Given the description of an element on the screen output the (x, y) to click on. 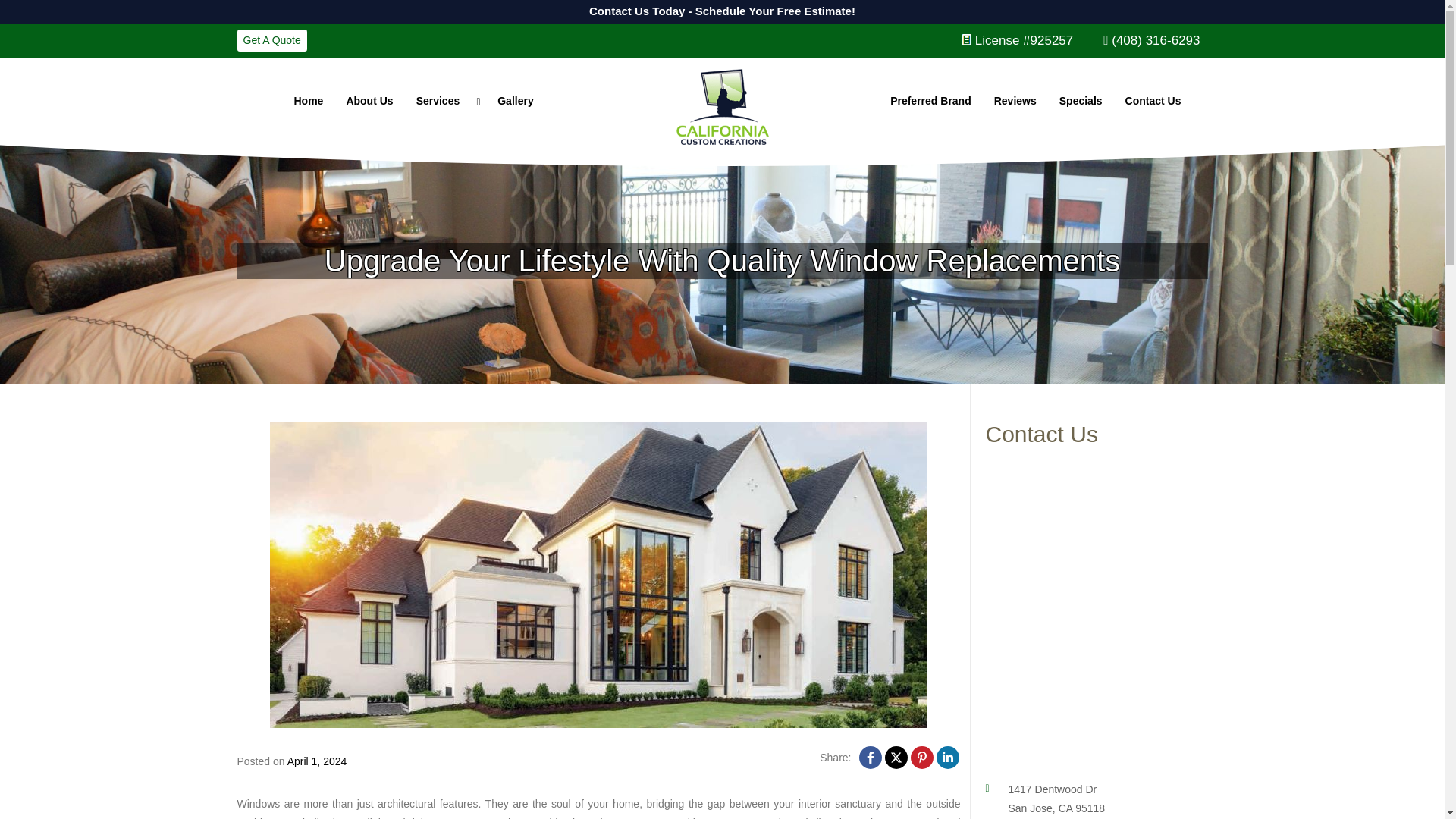
Contact Us Today - Schedule Your Free Estimate! (721, 11)
Contact Us (1152, 101)
Services (445, 101)
Get A Quote (270, 40)
Preferred Brand (930, 101)
Home (308, 101)
Reviews (1015, 101)
Gallery (515, 101)
Specials (1080, 101)
Contact Us Today - Schedule Your Free Estimate! (133, 8)
